Given the description of an element on the screen output the (x, y) to click on. 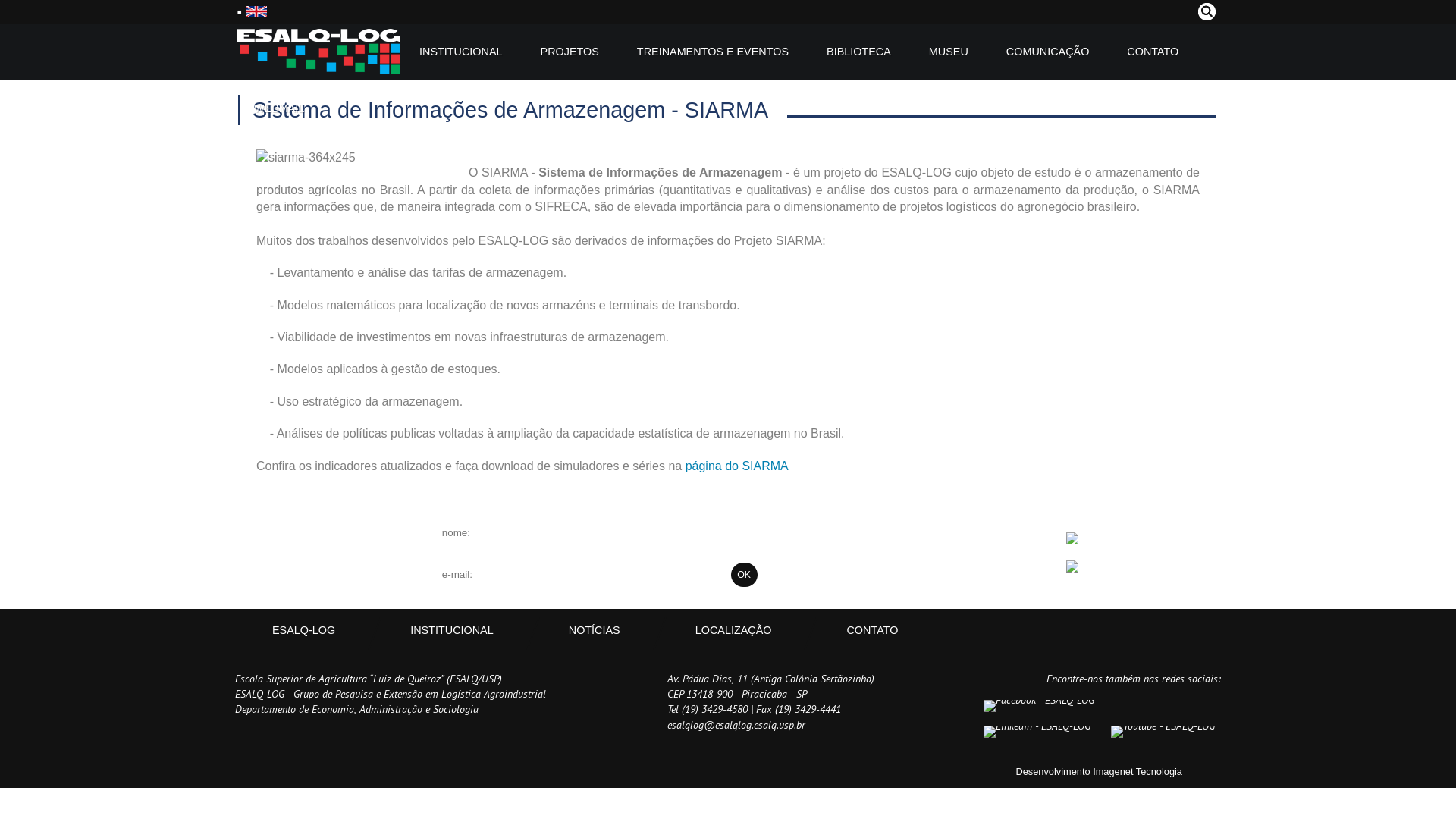
WEBMAIL Element type: text (271, 108)
Google Play Element type: hover (1104, 569)
Youtube - ESALQ-LOG Element type: hover (1162, 731)
Facebook - ESALQ-LOG Element type: hover (1038, 705)
TREINAMENTOS E EVENTOS Element type: text (712, 51)
BIBLIOTECA Element type: text (858, 51)
CONTATO Element type: text (1152, 51)
Pesquisar Element type: hover (1206, 11)
INSTITUCIONAL Element type: text (452, 629)
CONTATO Element type: text (872, 629)
INSTITUCIONAL Element type: text (460, 51)
OK Element type: text (744, 574)
PROJETOS Element type: text (569, 51)
MUSEU Element type: text (948, 51)
English Element type: hover (255, 11)
Imagenet Tecnologia Element type: text (1137, 771)
ESALQ-LOG Element type: text (304, 629)
App Store Element type: hover (1098, 541)
ESALQ-LOG Element type: hover (318, 51)
LinkedIn - ESALQ-LOG Element type: hover (1036, 731)
